Given the description of an element on the screen output the (x, y) to click on. 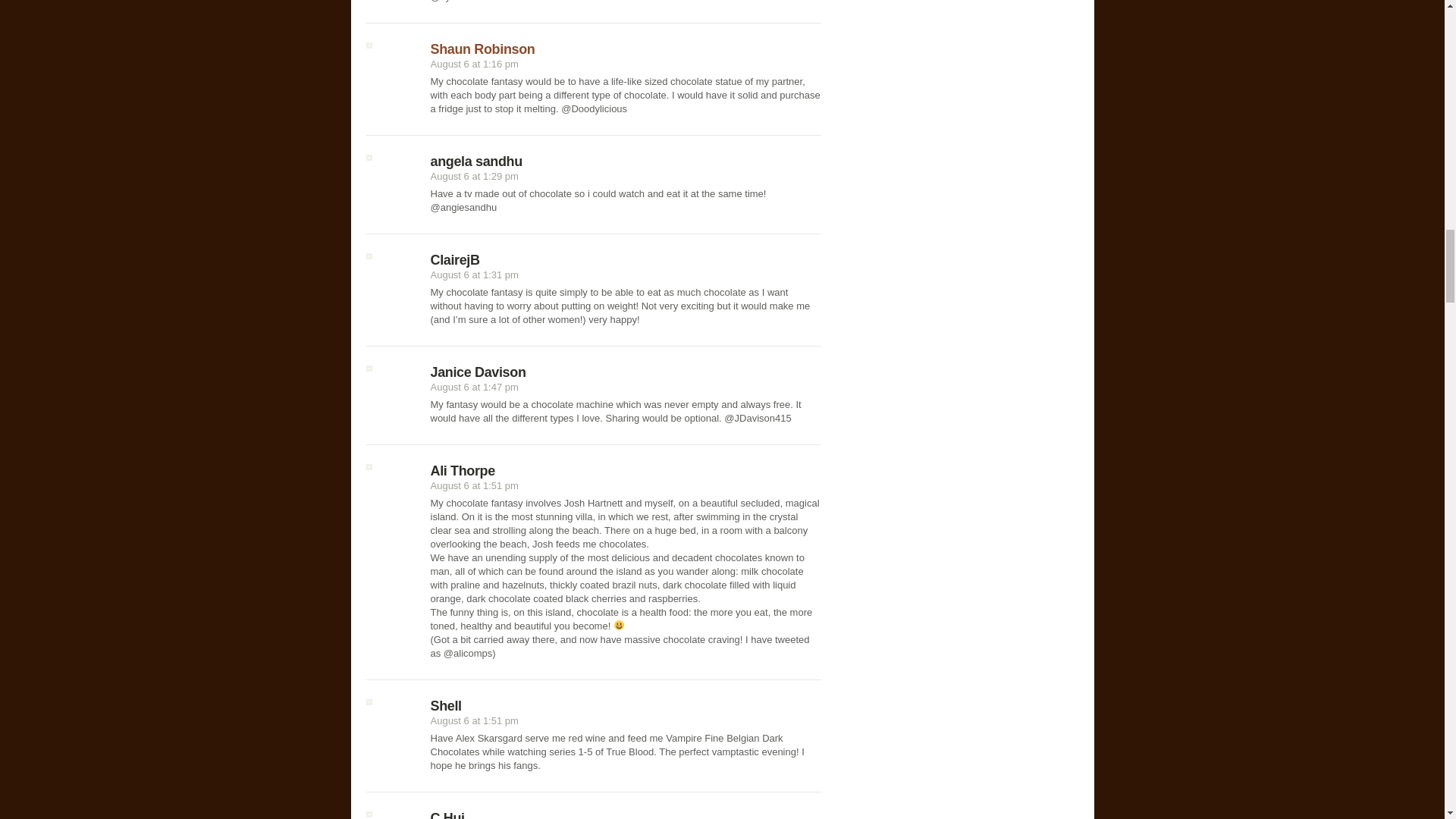
August 6 at 1:51 pm (474, 720)
August 6 at 1:51 pm (474, 485)
August 6 at 1:31 pm (474, 274)
Shaun Robinson (482, 48)
August 6 at 1:47 pm (474, 387)
August 6 at 1:29 pm (474, 175)
August 6 at 1:16 pm (474, 63)
